Given the description of an element on the screen output the (x, y) to click on. 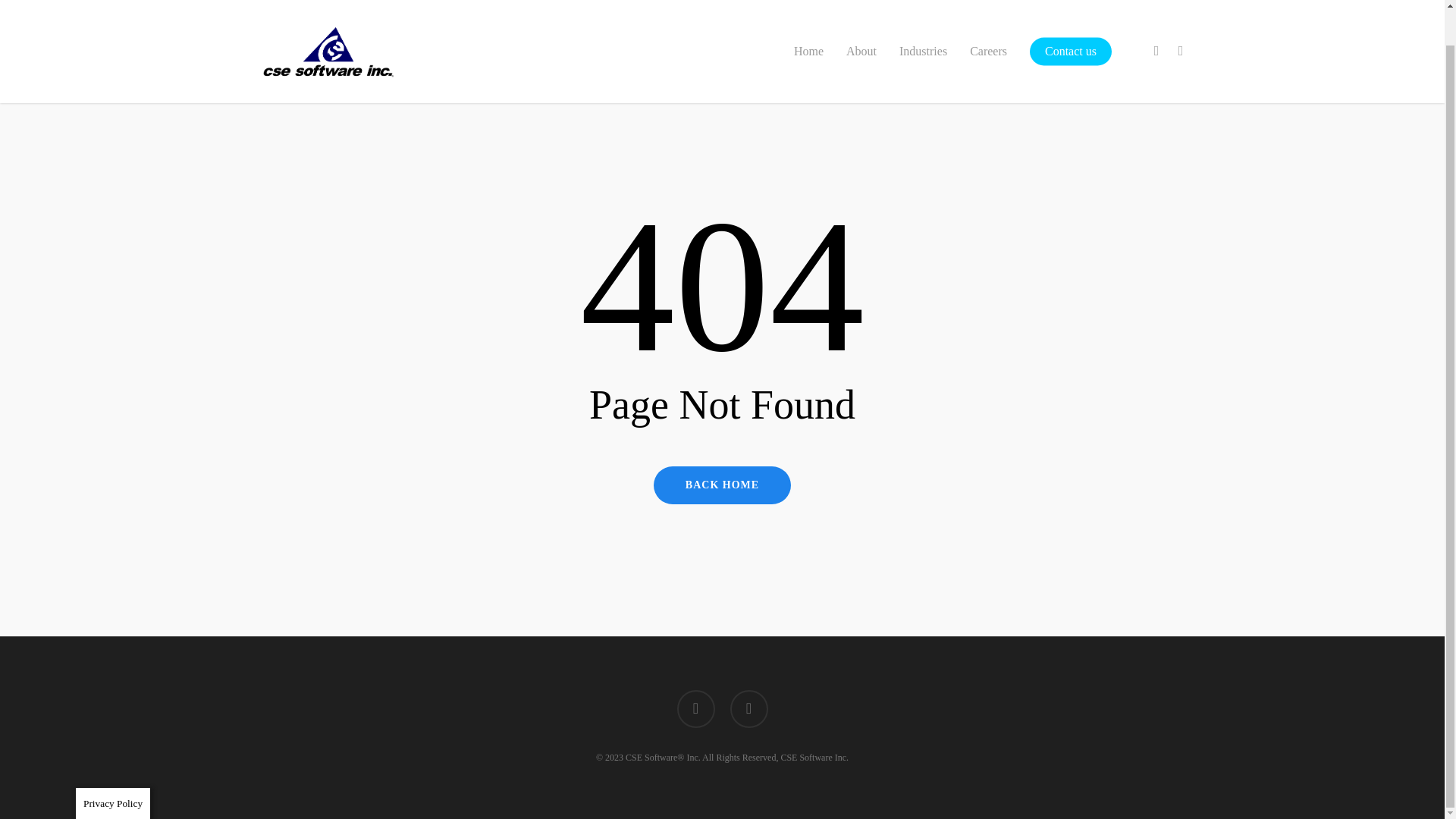
BACK HOME (721, 484)
linkedin (1180, 14)
facebook (695, 709)
linkedin (748, 709)
Careers (988, 15)
Industries (923, 15)
Home (808, 15)
Contact us (1070, 15)
About (860, 15)
facebook (1156, 14)
